Given the description of an element on the screen output the (x, y) to click on. 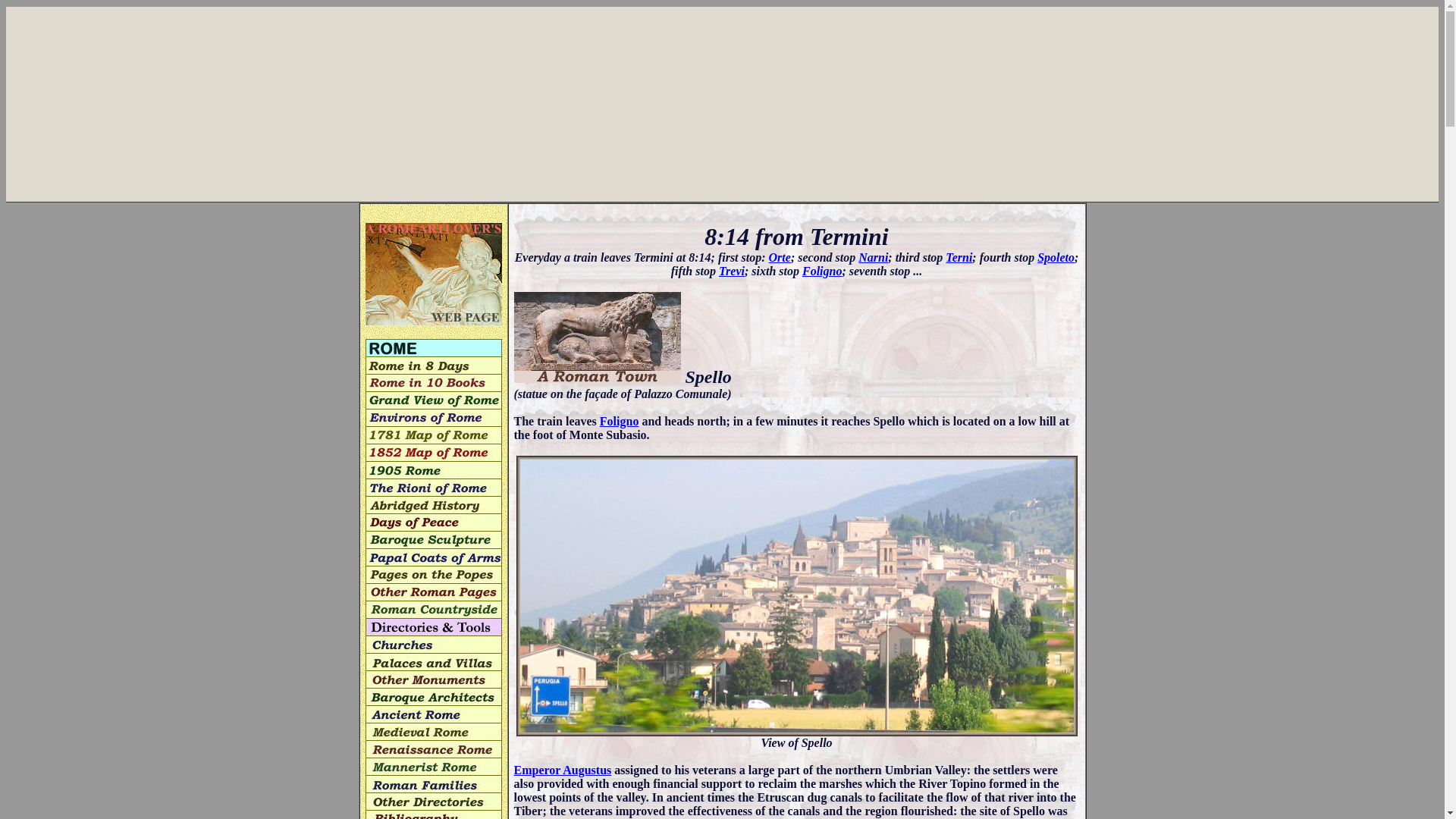
Spoleto (1055, 256)
Terni (958, 256)
Narni (873, 256)
Orte (779, 256)
Trevi (731, 270)
Foligno (619, 420)
Foligno (821, 270)
Emperor Augustus (562, 769)
Home (433, 273)
